Given the description of an element on the screen output the (x, y) to click on. 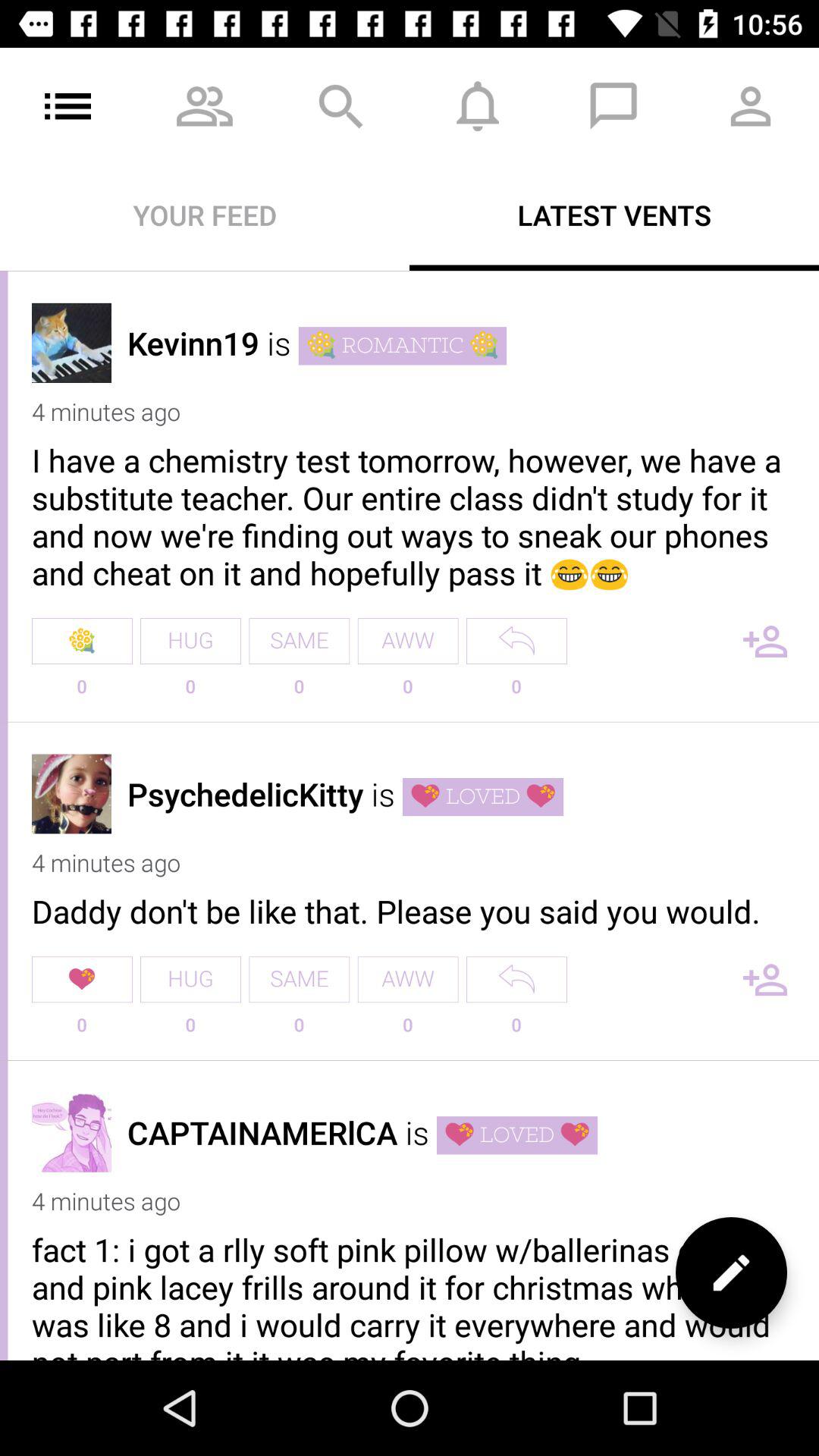
add contact (765, 979)
